Given the description of an element on the screen output the (x, y) to click on. 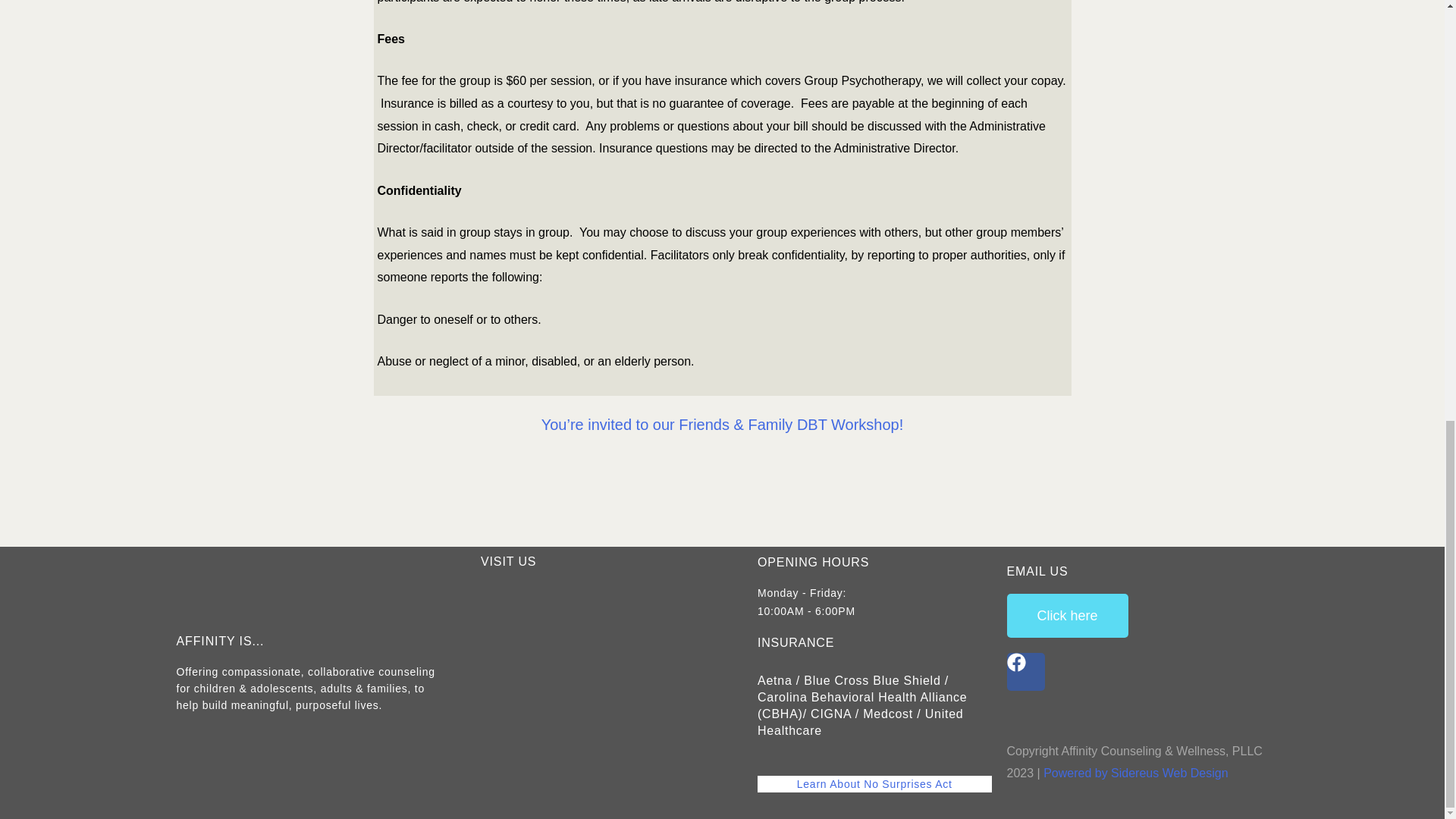
Click here (1067, 615)
Learn About No Surprises Act (874, 784)
Facebook (1026, 671)
3143 S. Stratford Road (597, 697)
